Given the description of an element on the screen output the (x, y) to click on. 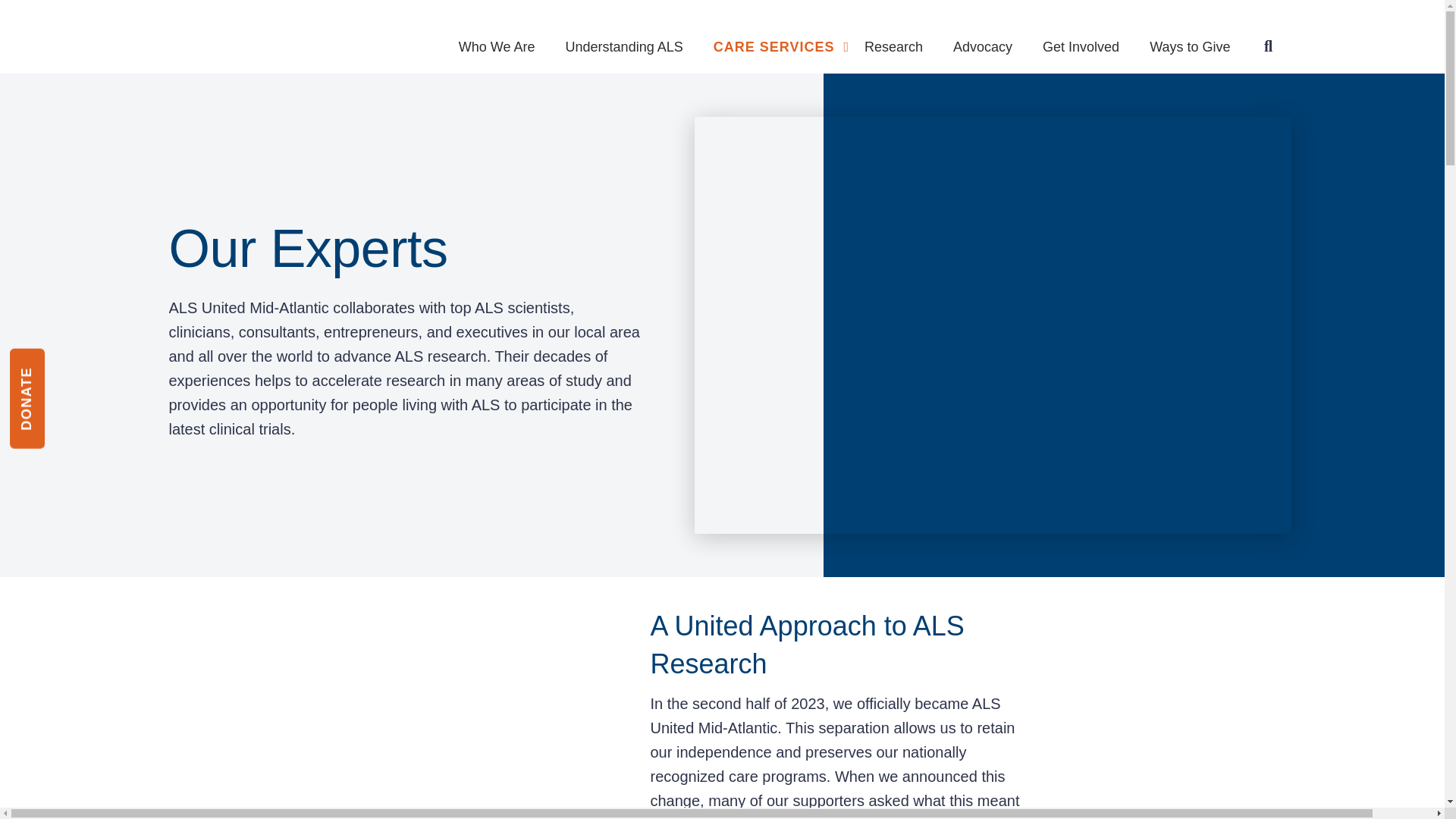
Advocacy (982, 39)
Research (892, 39)
CARE SERVICES (780, 33)
Understanding ALS (624, 39)
Who We Are (497, 39)
